Given the description of an element on the screen output the (x, y) to click on. 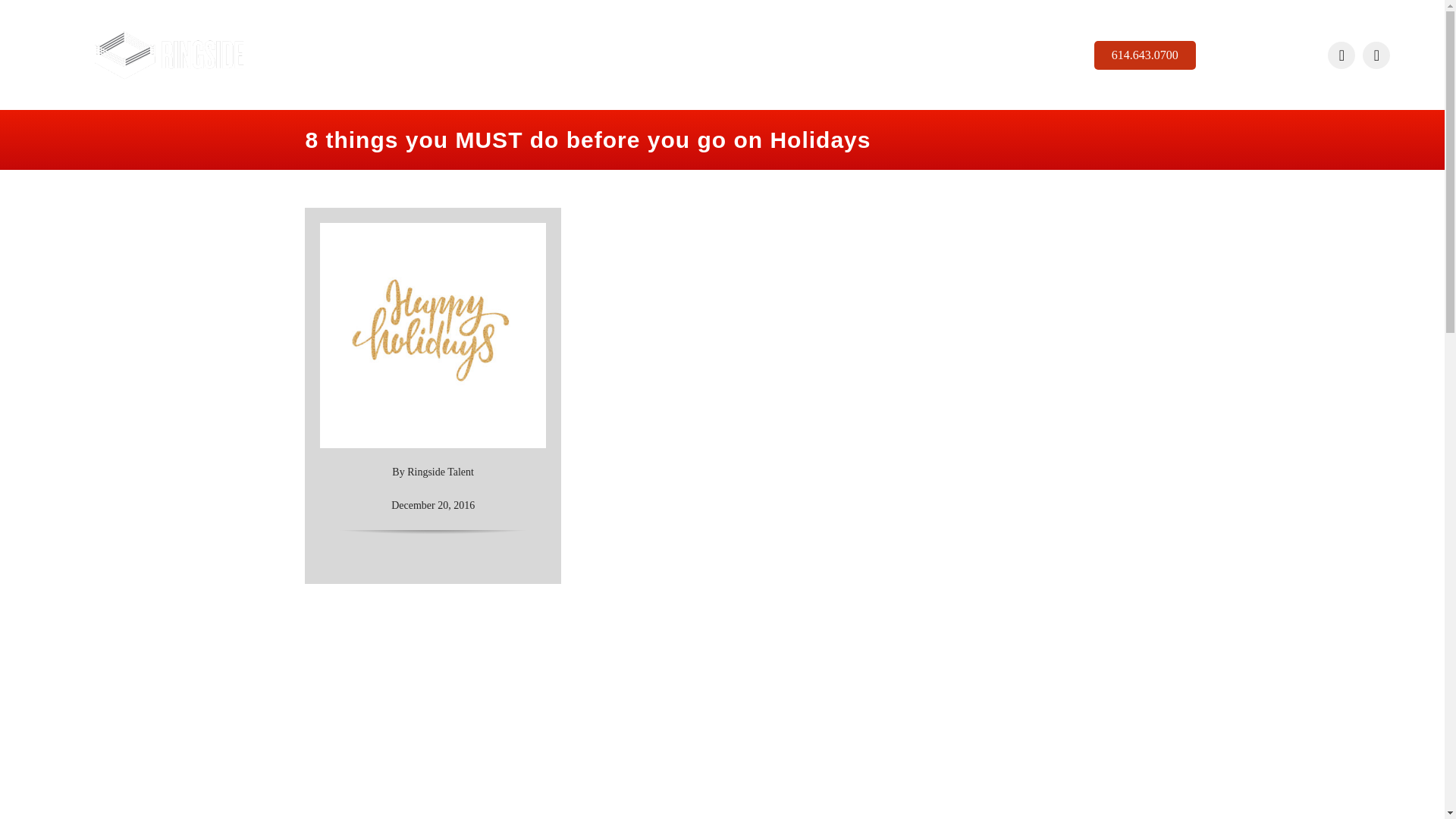
LinkedIn (1376, 53)
Instagram (1341, 53)
614.643.0700 (1144, 54)
CONTACT (898, 53)
8 things you MUST do before you go on Holidays 1 (168, 54)
EXPERTISE (680, 53)
EMPLOYERS (541, 53)
ABOUT (755, 53)
JOBS (613, 53)
INSIGHTS (825, 53)
